Given the description of an element on the screen output the (x, y) to click on. 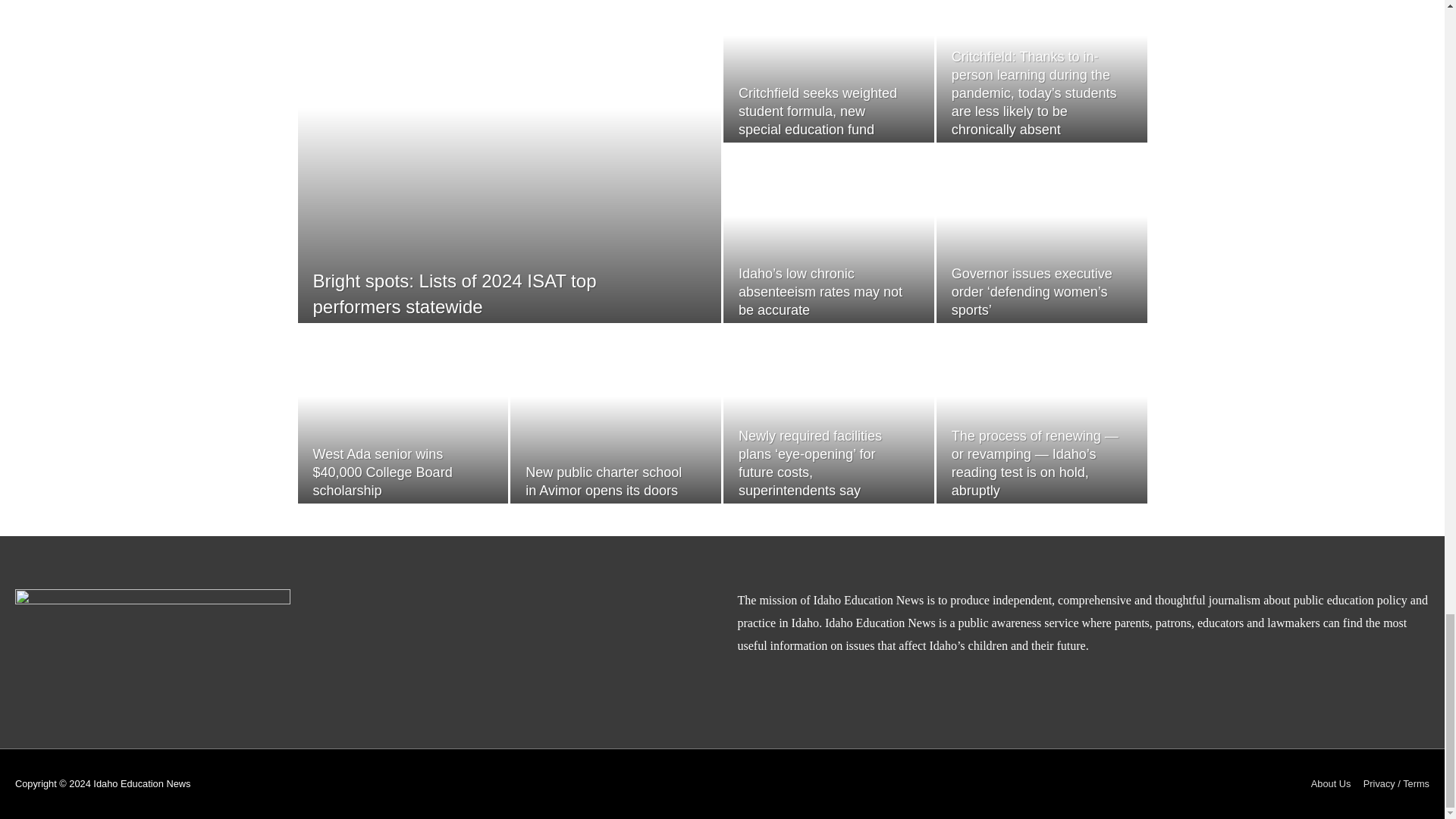
Bright spots: Lists of 2024 ISAT top performers statewide (454, 293)
New public charter school in Avimor opens its doors (603, 481)
